Given the description of an element on the screen output the (x, y) to click on. 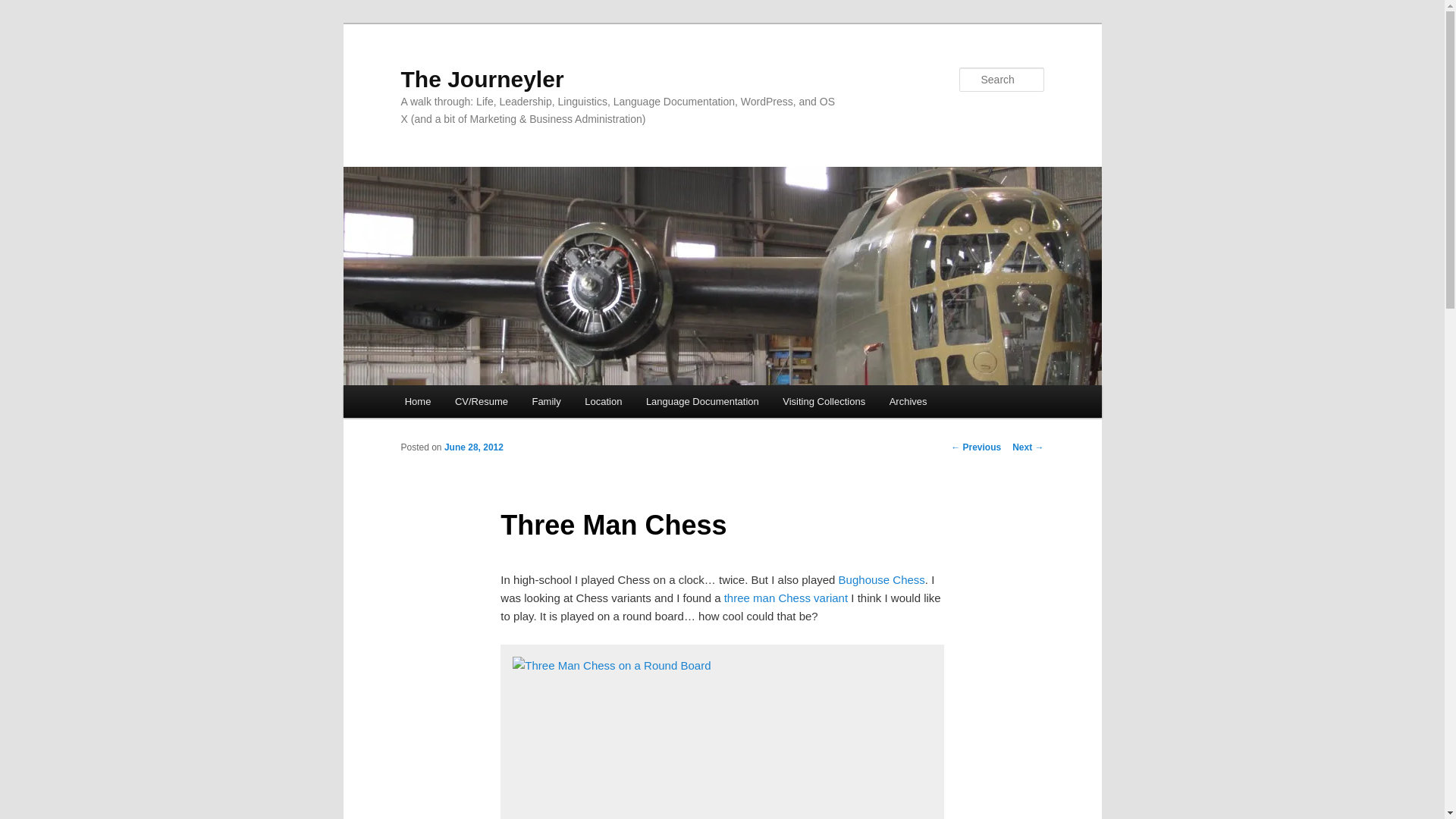
Resume (480, 400)
The Journeyler (481, 78)
Bughouse Chess. (881, 579)
Search (24, 8)
Family (546, 400)
Three man Chess (785, 597)
11:05 pm (473, 447)
Family (546, 400)
Language Documentation (701, 400)
